Given the description of an element on the screen output the (x, y) to click on. 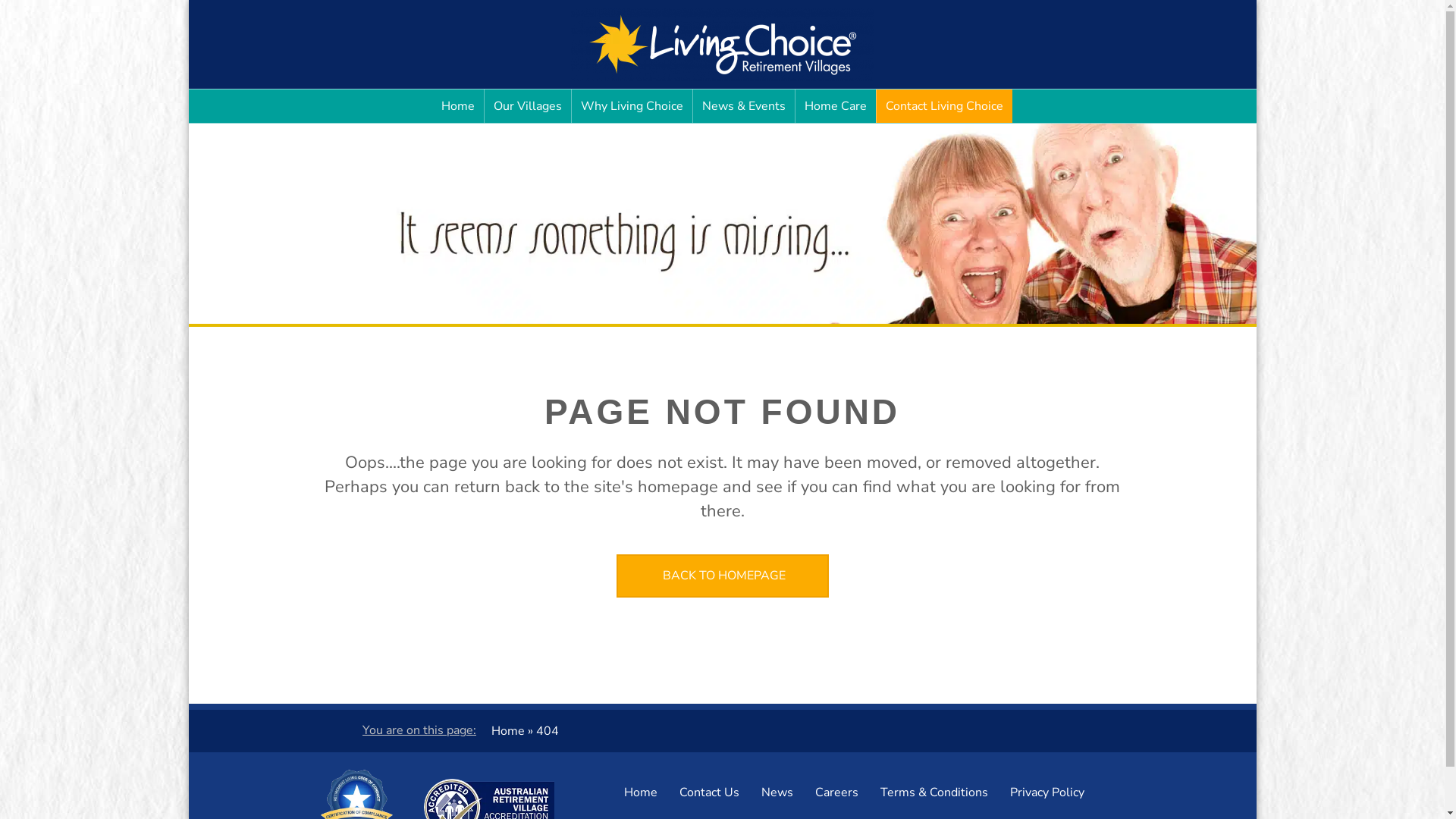
Why Living Choice Element type: text (631, 105)
Careers Element type: text (836, 792)
Home Element type: text (507, 730)
News Element type: text (776, 792)
BACK TO HOMEPAGE Element type: text (721, 575)
Home Care Element type: text (835, 105)
Privacy Policy Element type: text (1047, 792)
404 Element type: text (547, 730)
404-error Element type: hover (721, 222)
Contact Us Element type: text (708, 792)
Home Element type: text (457, 105)
ARVAS-Accredited-Logo-FINAL Element type: hover (488, 806)
Contact Living Choice Element type: text (944, 105)
Home Element type: text (640, 792)
rlcc Element type: hover (356, 802)
Terms & Conditions Element type: text (933, 792)
Our Villages Element type: text (527, 105)
LCA Retirement Villages Logo trans white text-01 Element type: hover (721, 42)
News & Events Element type: text (743, 105)
